Given the description of an element on the screen output the (x, y) to click on. 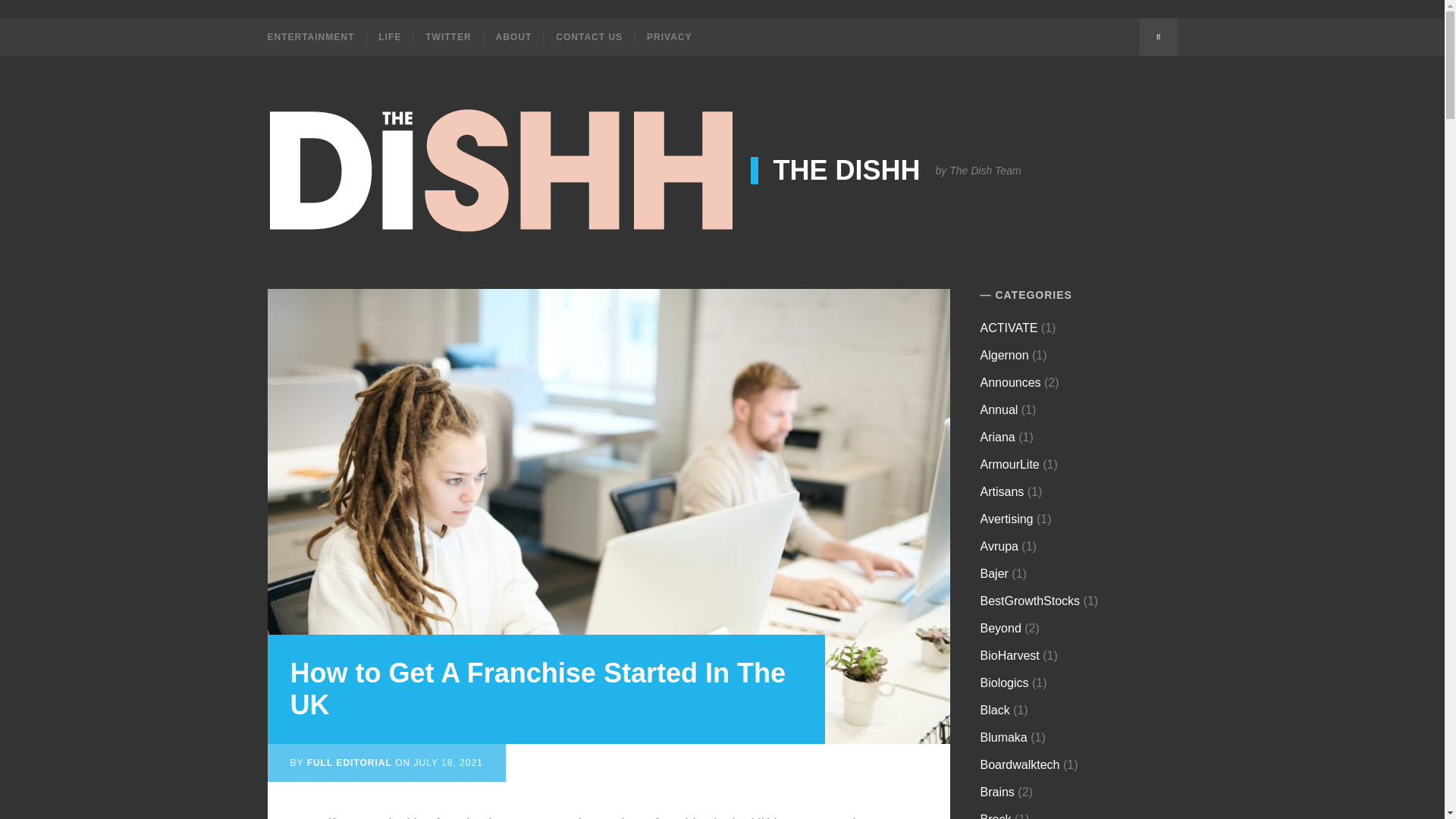
CONTACT US (588, 37)
THE DISHH (835, 170)
Search (1157, 37)
Beyond (1000, 627)
Brock (995, 816)
Annual (998, 409)
PRIVACY (668, 37)
Boardwalktech (1019, 764)
Blumaka (1003, 737)
ABOUT (513, 37)
Algernon (1004, 354)
TWITTER (446, 37)
ACTIVATE (1008, 327)
Biologics (1004, 682)
Black (994, 709)
